Given the description of an element on the screen output the (x, y) to click on. 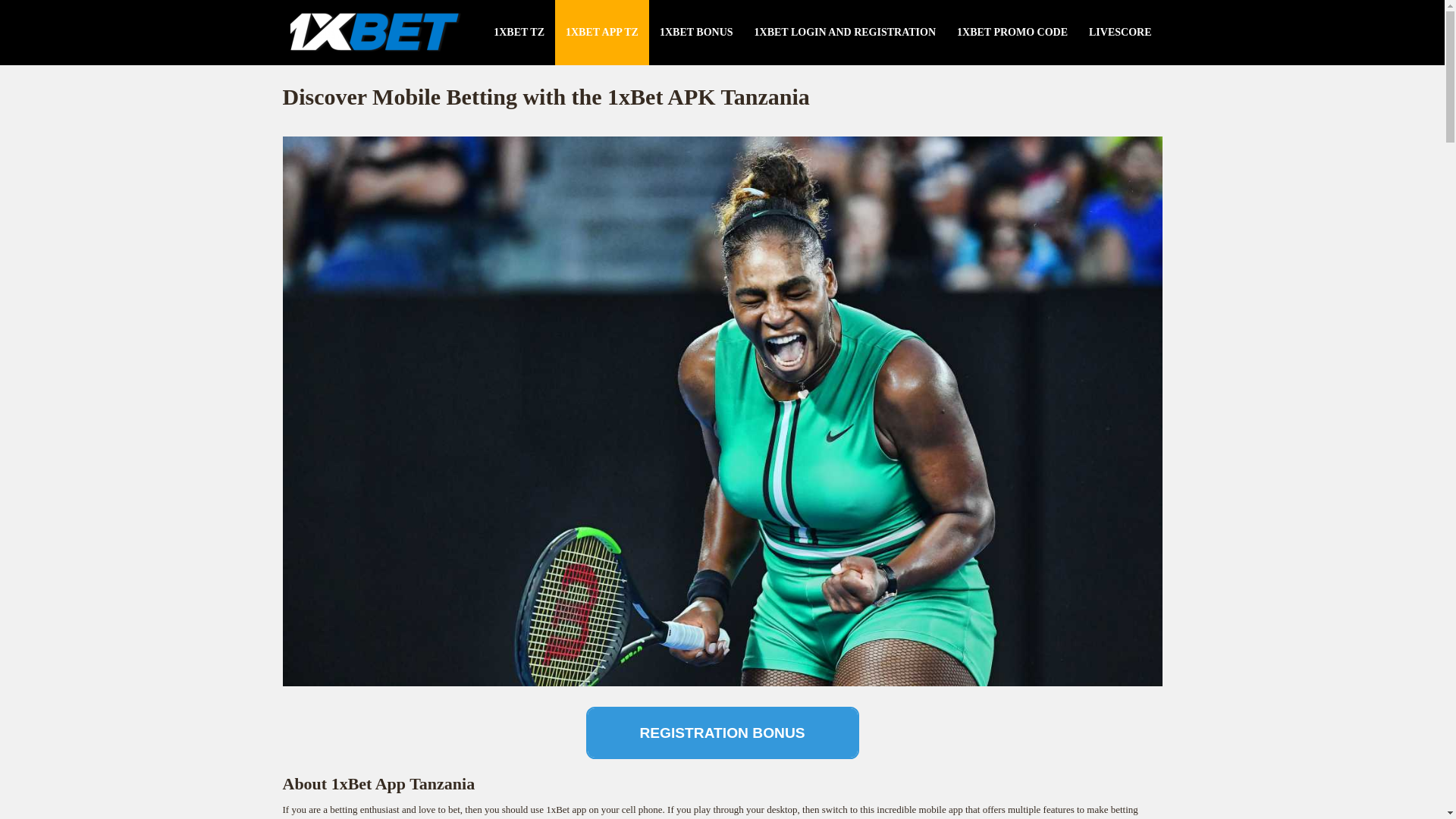
1XBET APP TZ Element type: text (602, 32)
REGISTRATION BONUS Element type: text (721, 732)
1XBET TZ Element type: text (519, 32)
1XBET LOGIN AND REGISTRATION Element type: text (844, 32)
LIVESCORE Element type: text (1119, 32)
1XBET PROMO CODE Element type: text (1012, 32)
1XBET BONUS Element type: text (696, 32)
